Given the description of an element on the screen output the (x, y) to click on. 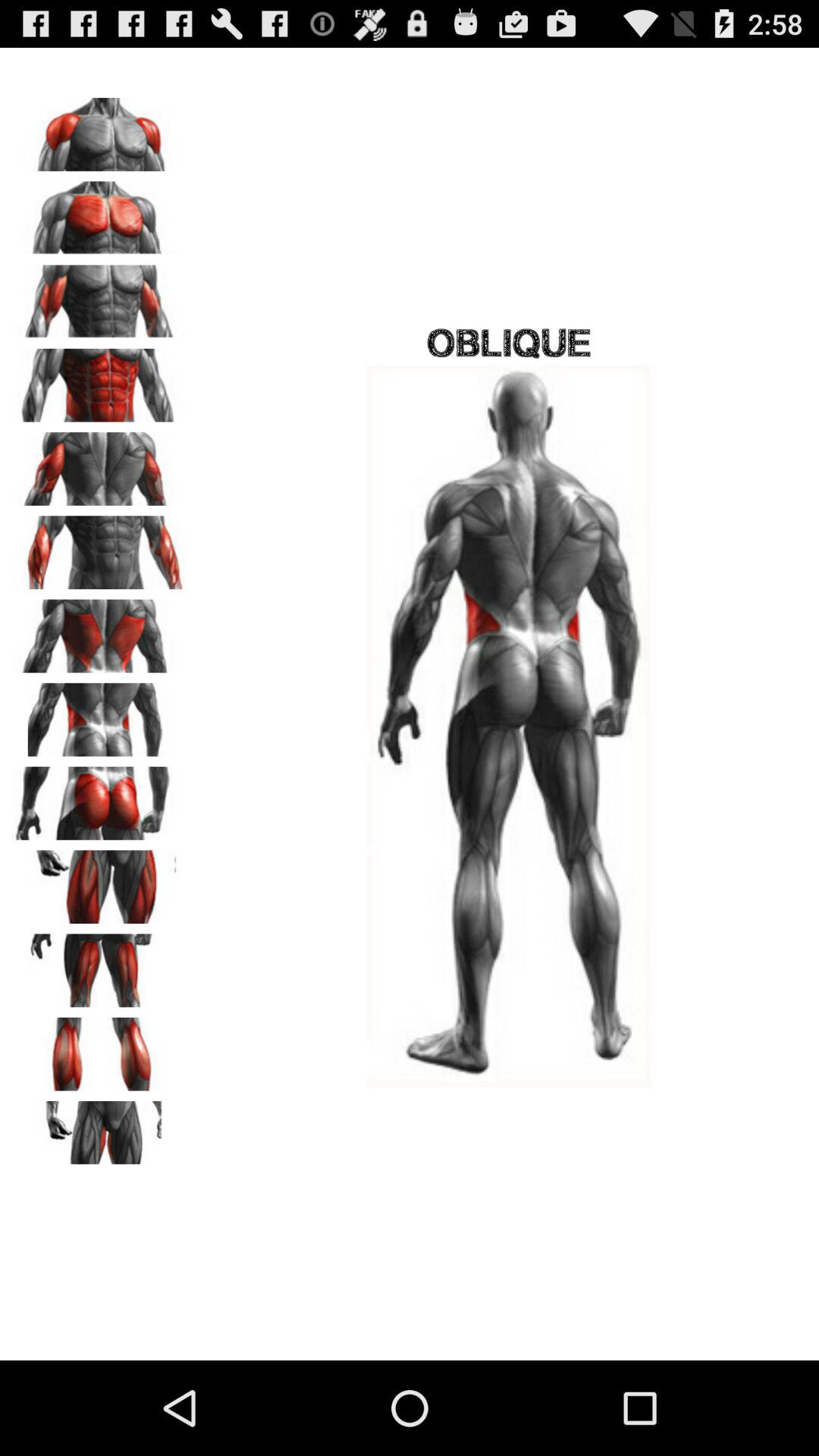
select body part back (99, 630)
